Given the description of an element on the screen output the (x, y) to click on. 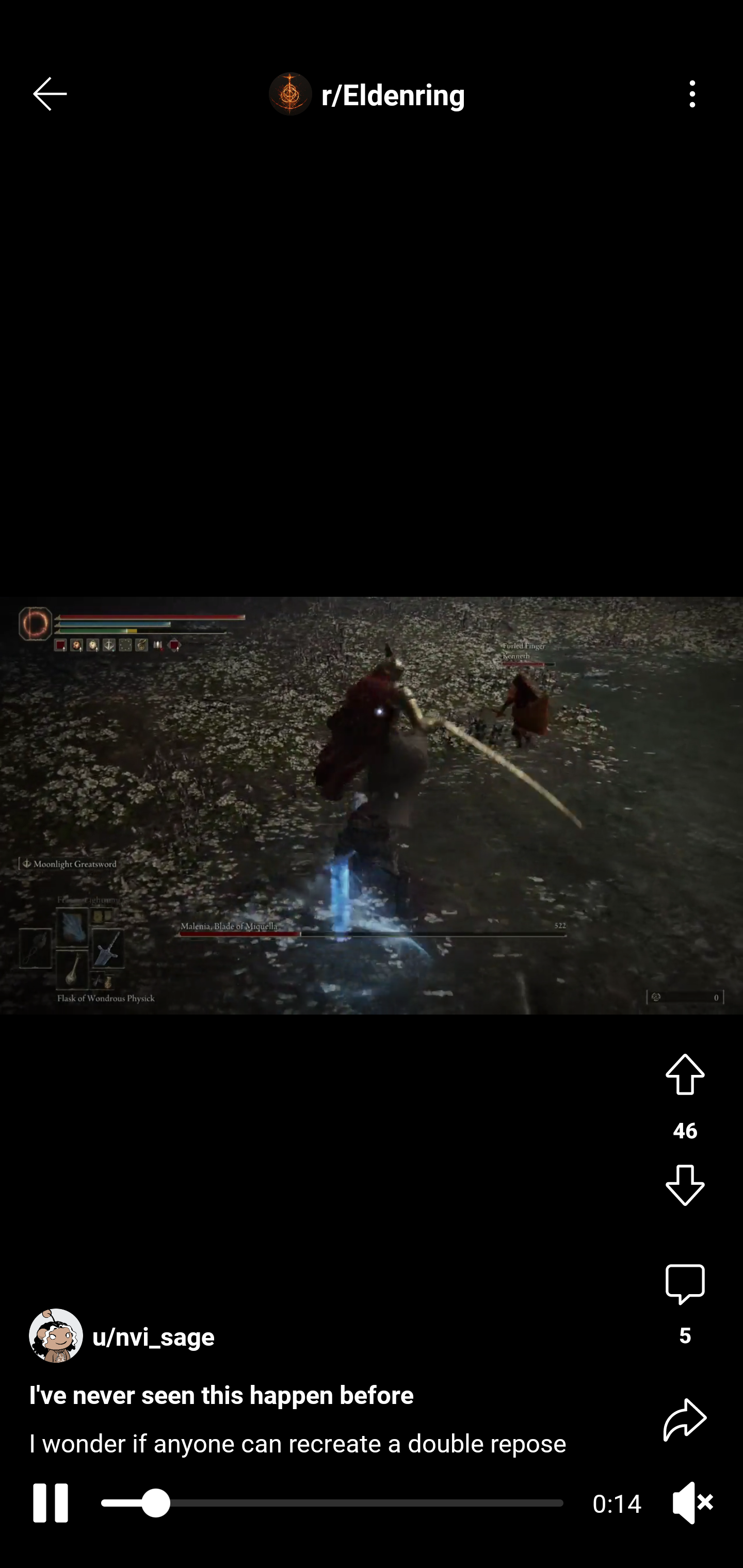
Back (50, 93)
r slash Eldenring (371, 93)
More options (692, 93)
Upvote this post (684, 1071)
Downvote this post (684, 1187)
5 comments (684, 1305)
nvi_sage, post creator (125, 1327)
Share this post (684, 1417)
Pause (46, 1502)
Unmute (692, 1502)
